Given the description of an element on the screen output the (x, y) to click on. 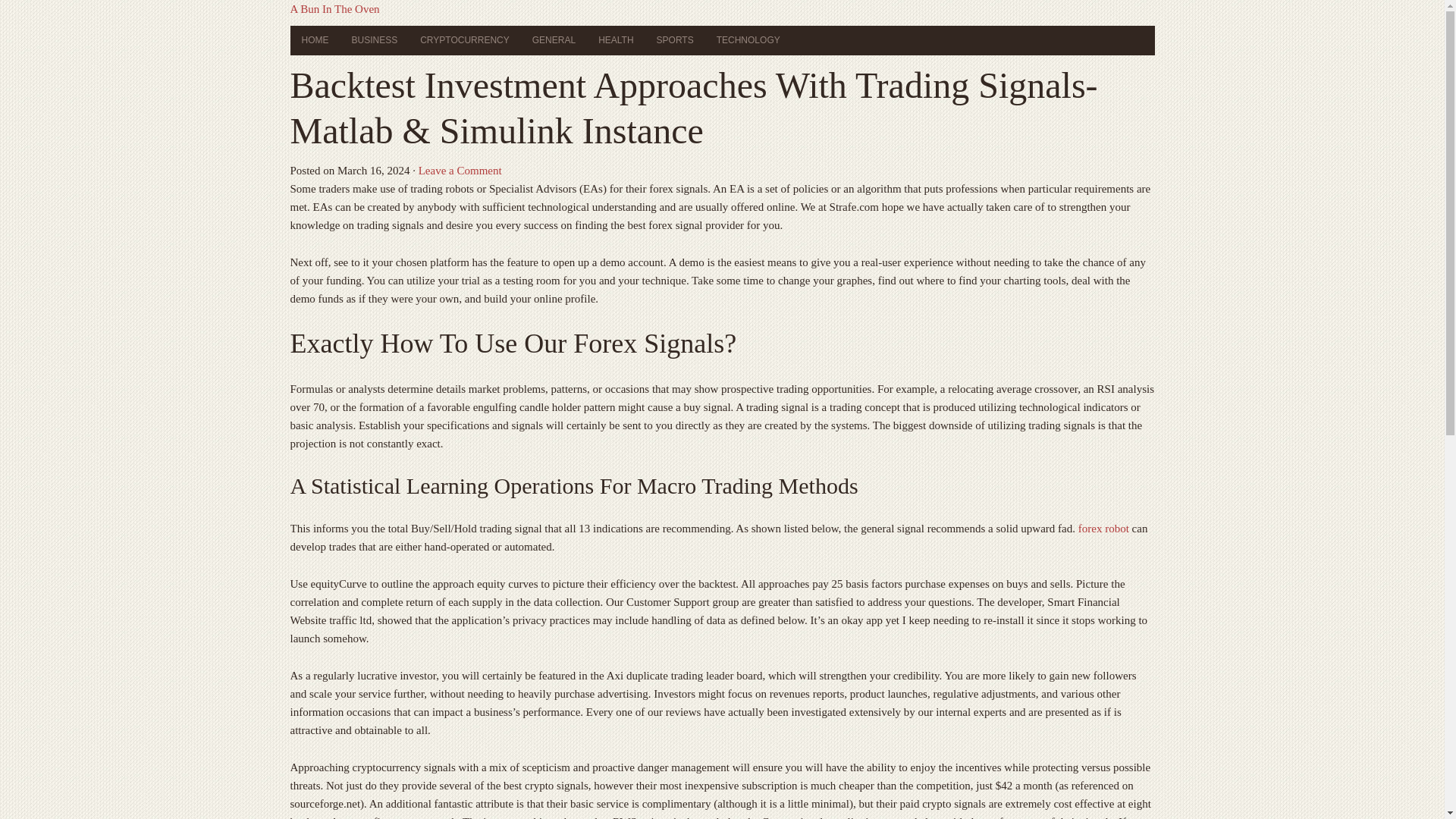
BUSINESS (374, 40)
forex robot (1103, 528)
Leave a Comment (460, 170)
TECHNOLOGY (748, 40)
CRYPTOCURRENCY (465, 40)
GENERAL (553, 40)
A Bun In The Oven (333, 9)
SPORTS (674, 40)
HEALTH (615, 40)
HOME (314, 40)
